Given the description of an element on the screen output the (x, y) to click on. 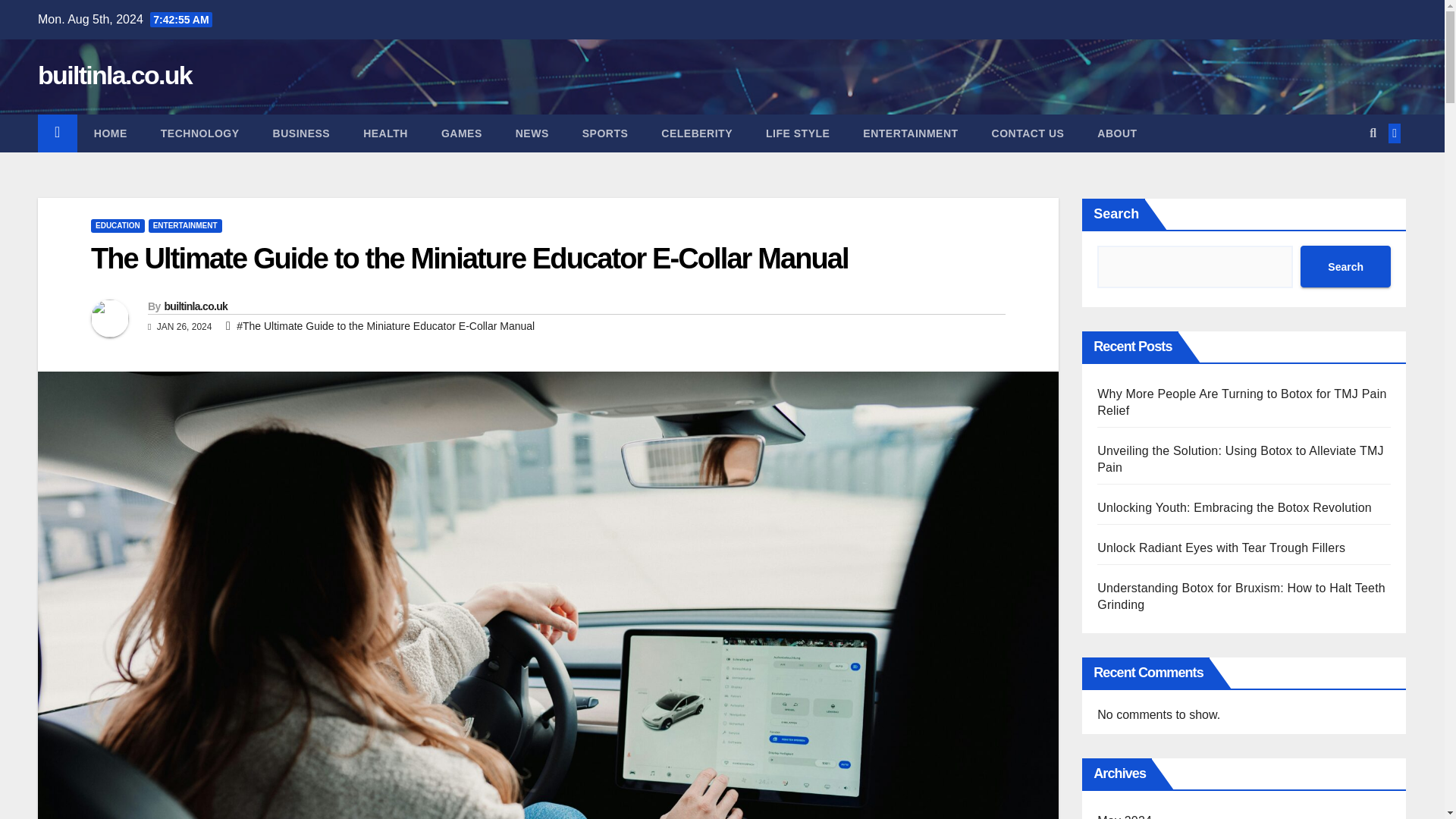
builtinla.co.uk (114, 74)
Health (385, 133)
CELEBERITY (697, 133)
About (1116, 133)
celeberity (697, 133)
TECHNOLOGY (200, 133)
ENTERTAINMENT (909, 133)
LIFE STYLE (797, 133)
The Ultimate Guide to the Miniature Educator E-Collar Manual (469, 258)
HOME (110, 133)
Business (301, 133)
Home (110, 133)
SPORTS (605, 133)
GAMES (462, 133)
Games (462, 133)
